Given the description of an element on the screen output the (x, y) to click on. 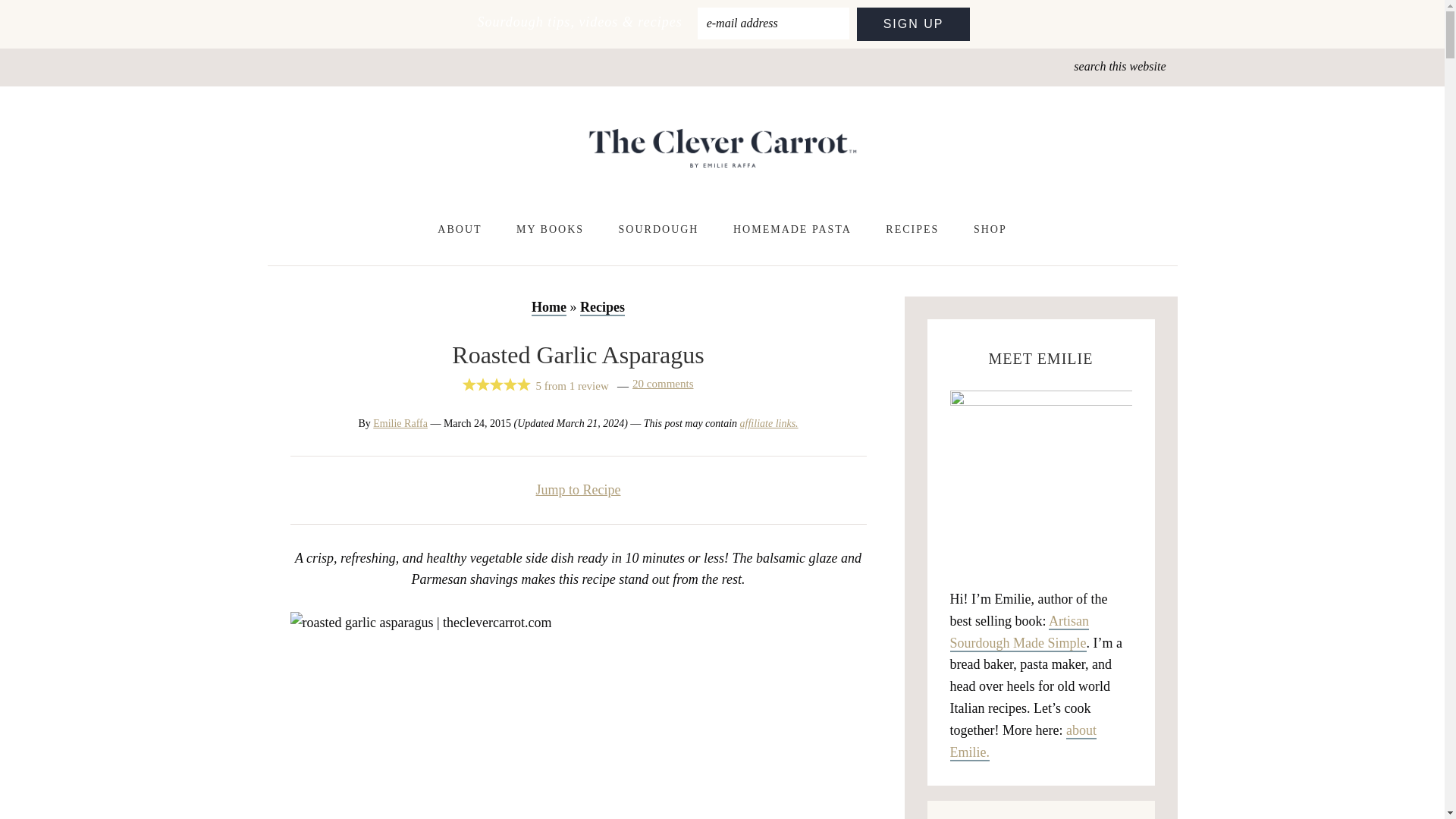
SOURDOUGH (659, 229)
MY BOOKS (549, 229)
Sign up (914, 23)
Home (548, 307)
SHOP (990, 229)
Recipes (601, 307)
HOMEMADE PASTA (791, 229)
Sign up (914, 23)
